Given the description of an element on the screen output the (x, y) to click on. 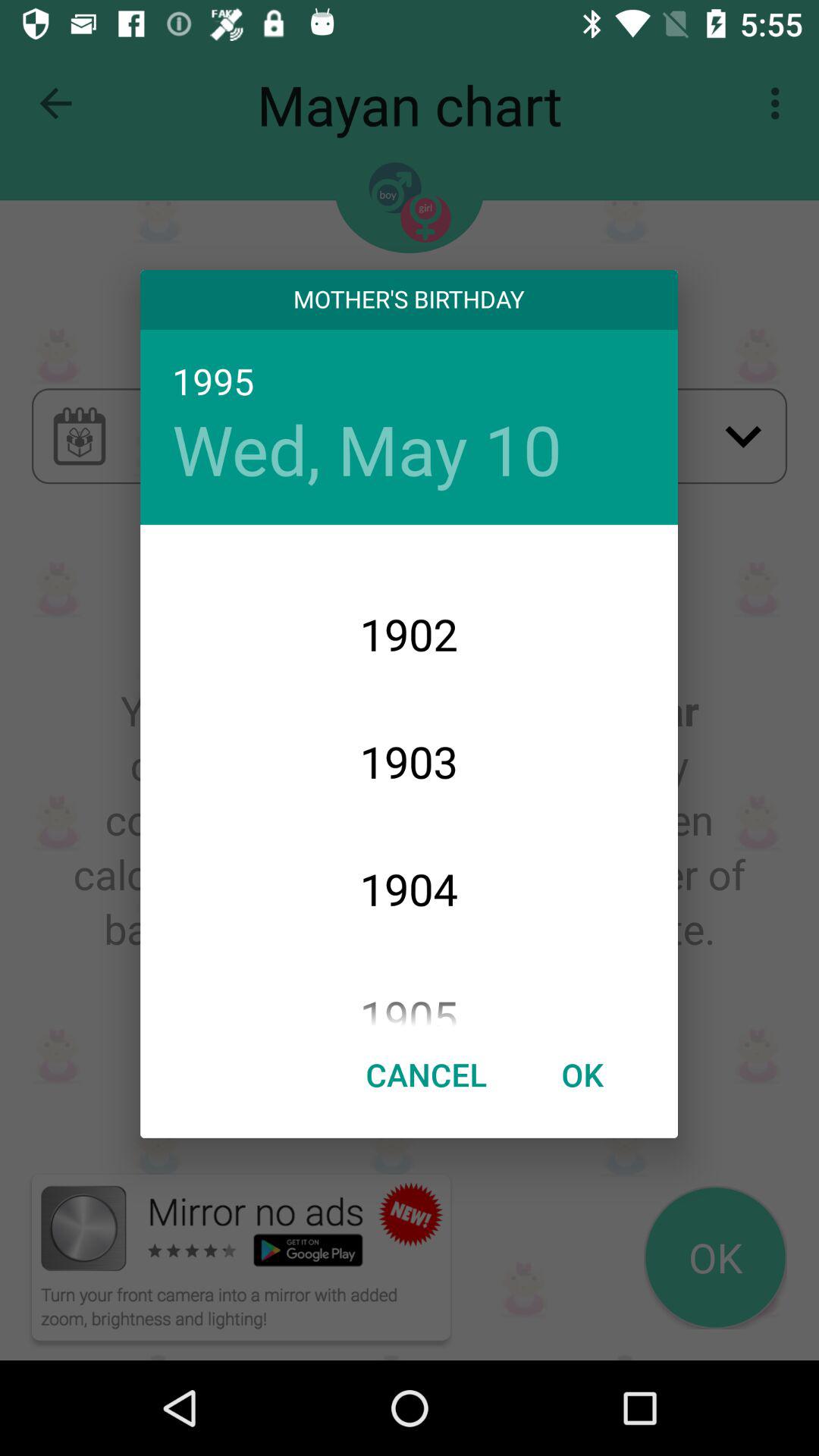
jump to the cancel (425, 1074)
